Given the description of an element on the screen output the (x, y) to click on. 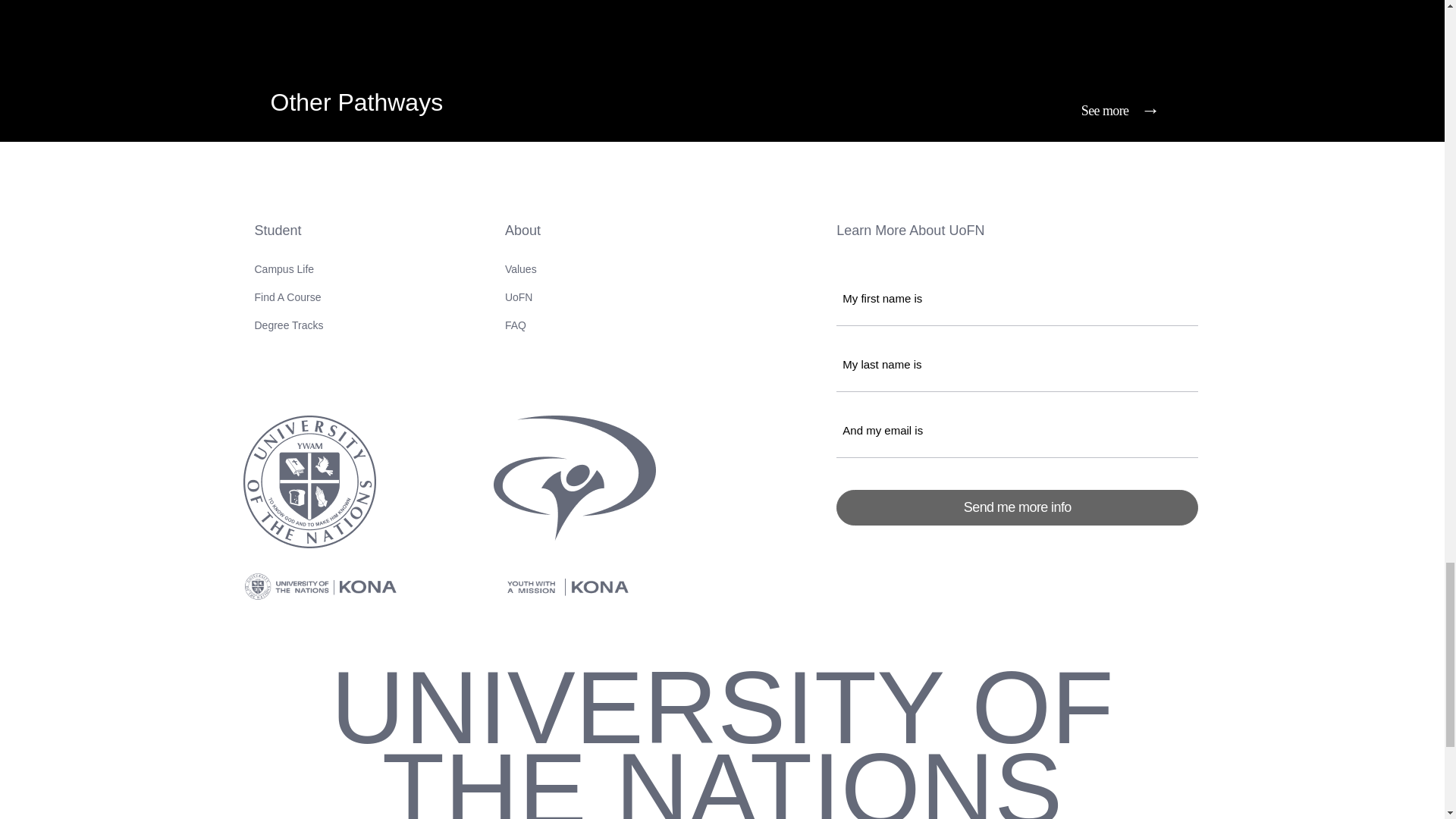
See more (1115, 108)
Send me more info (1016, 507)
Campus Life (367, 269)
UoFN (664, 297)
Values (664, 269)
Find A Course (367, 297)
Send me more info (1016, 507)
FAQ (664, 325)
Degree Tracks (367, 325)
